Given the description of an element on the screen output the (x, y) to click on. 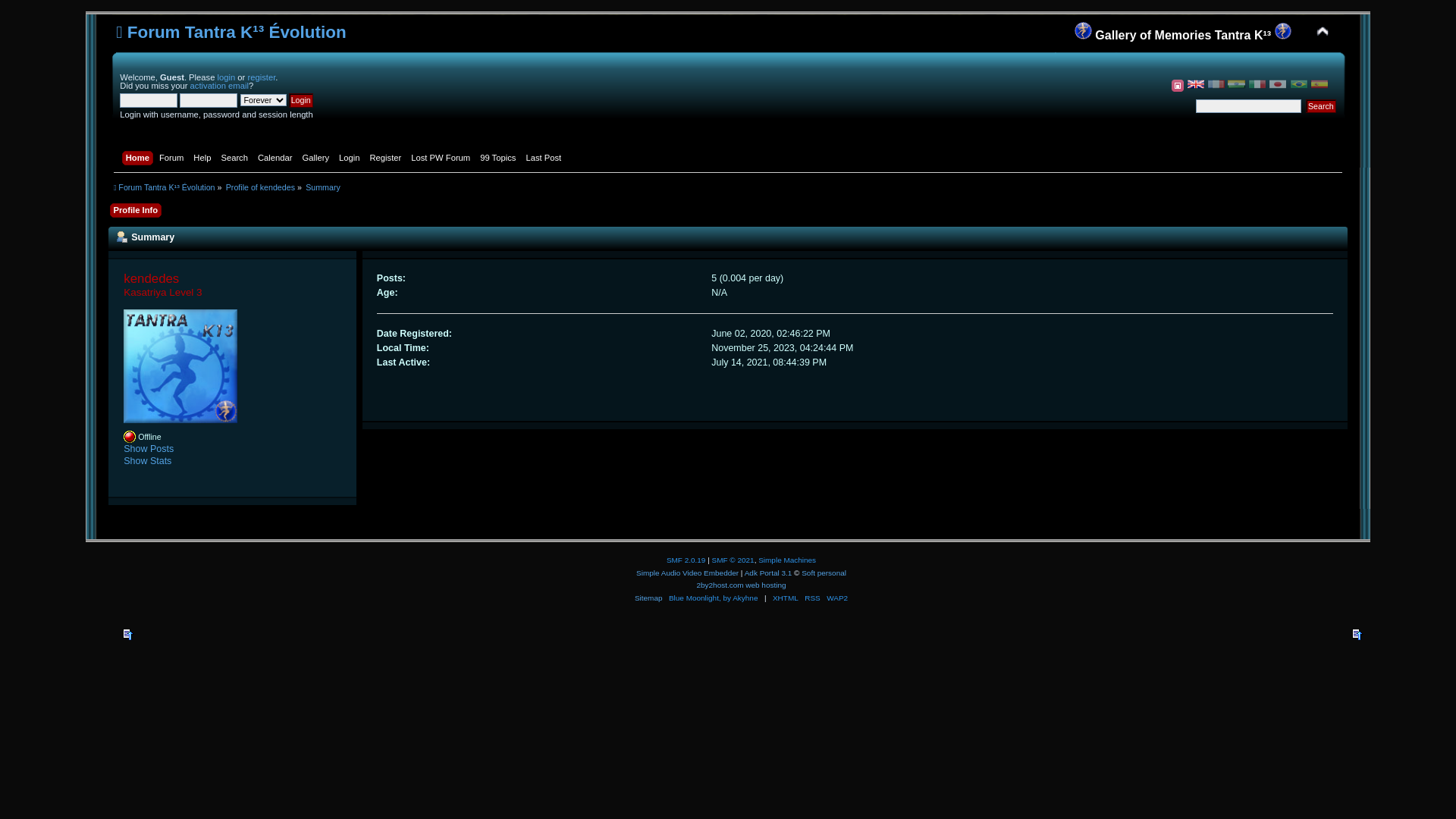
French-utf8 Element type: text (1216, 84)
Go - TOP * UP Element type: hover (1357, 637)
Soft personal Element type: text (823, 572)
Indonesian-utf8 Element type: text (1236, 84)
RSS Element type: text (812, 597)
XHTML Element type: text (785, 597)
Search Element type: text (1320, 105)
Register Element type: text (387, 158)
Help Element type: text (203, 158)
Go TOP - UP Element type: hover (1357, 634)
register Element type: text (261, 76)
Portuguese Brazilian-utf8 Element type: text (1298, 84)
Show Stats Element type: text (147, 460)
Sitemap Element type: text (648, 597)
Home Element type: text (139, 158)
Forum Element type: text (173, 158)
Show Posts Element type: text (148, 448)
Login Element type: text (300, 99)
Adk Portal 3.1 Element type: text (768, 572)
WAP2 Element type: text (836, 597)
Shrink or expand the header. Element type: hover (1322, 31)
English Element type: text (1195, 84)
Profile of kendedes Element type: text (259, 186)
Simple Audio Video Embedder Element type: text (687, 572)
Login Element type: text (350, 158)
login Element type: text (226, 76)
Go TOP - UP Element type: hover (128, 634)
Search Element type: text (235, 158)
Calendar Element type: text (276, 158)
Go - TOP * UP Element type: hover (128, 637)
Gallery Element type: text (316, 158)
Summary Element type: text (322, 186)
2by2host.com Element type: text (719, 584)
Simple Machines Element type: text (786, 559)
Spanish Es-utf8 Element type: text (1319, 84)
activation email Element type: text (219, 85)
99 Topics Element type: text (499, 158)
SMF 2.0.19 Element type: text (686, 559)
Blue Moonlight, by Akyhne Element type: text (712, 597)
Last Post Element type: text (544, 158)
Profile Info Element type: text (137, 211)
Japanese-utf8 Element type: text (1277, 84)
Italian-utf8 Element type: text (1257, 84)
Lost PW Forum Element type: text (442, 158)
web hosting Element type: text (765, 584)
